Given the description of an element on the screen output the (x, y) to click on. 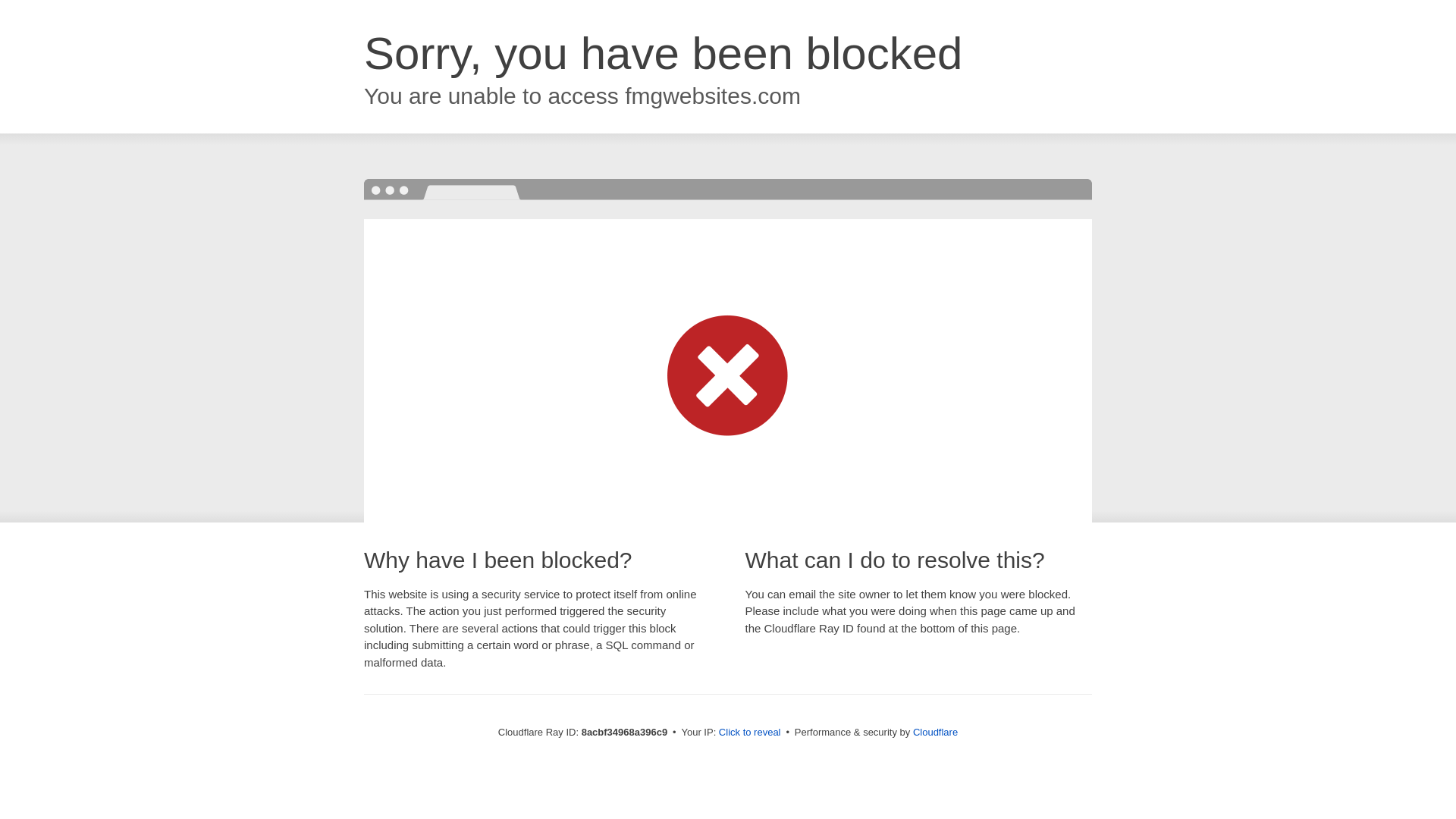
Cloudflare (935, 731)
Click to reveal (749, 732)
